Given the description of an element on the screen output the (x, y) to click on. 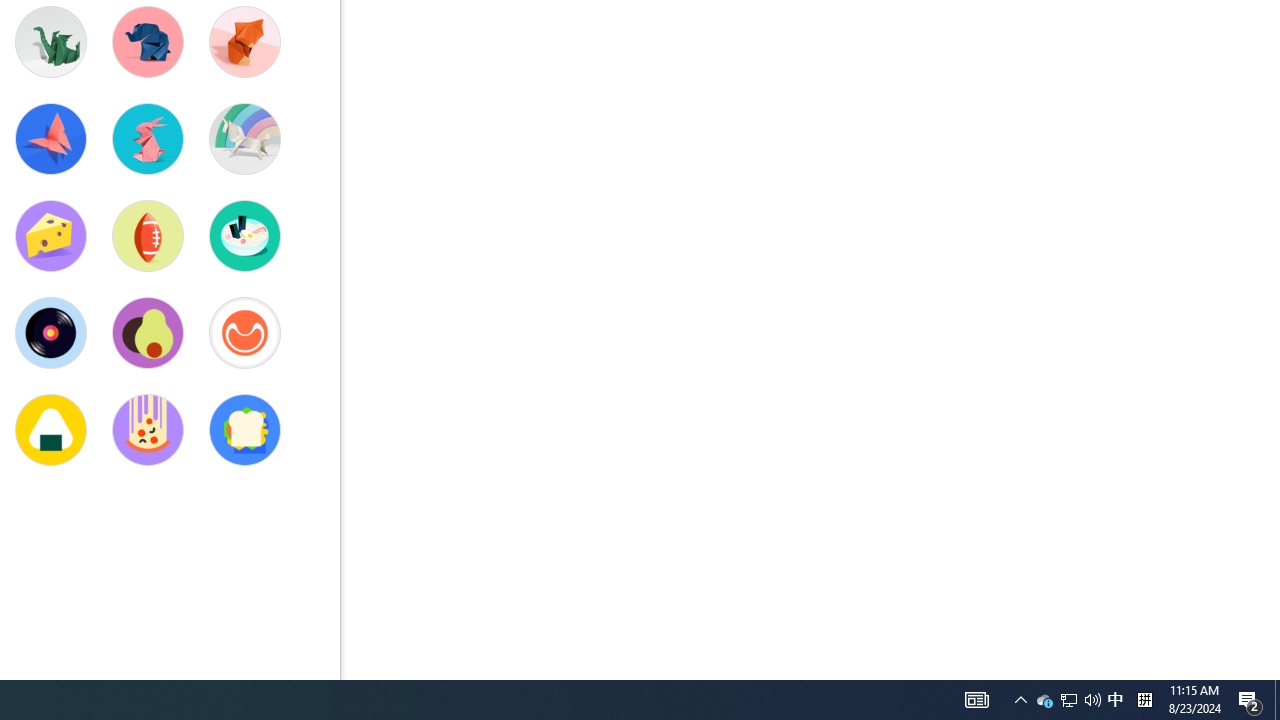
Action Center, 2 new notifications (1069, 699)
Q2790: 100% (1044, 699)
Tray Input Indicator - Chinese (Simplified, China) (1250, 699)
Notification Chevron (1092, 699)
AutomationID: 4105 (1144, 699)
User Promoted Notification Area (1020, 699)
Show desktop (976, 699)
